Given the description of an element on the screen output the (x, y) to click on. 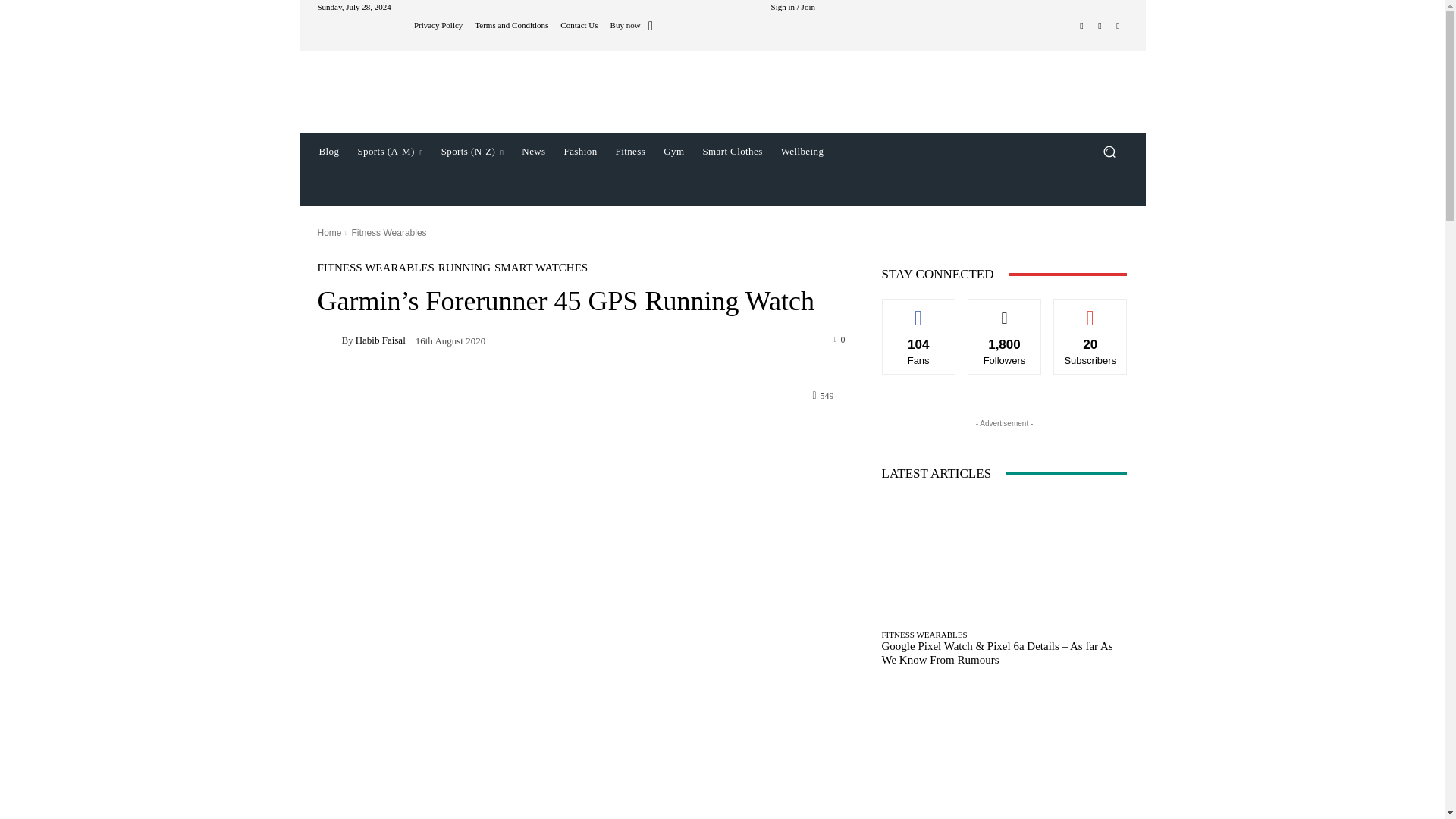
Terms and Conditions (511, 25)
Blog (327, 151)
Twitter (1117, 25)
Instagram (1099, 25)
Facebook (1080, 25)
Habib Faisal (328, 339)
Contact Us (578, 25)
View all posts in Fitness Wearables (388, 232)
Privacy Policy (438, 25)
